Given the description of an element on the screen output the (x, y) to click on. 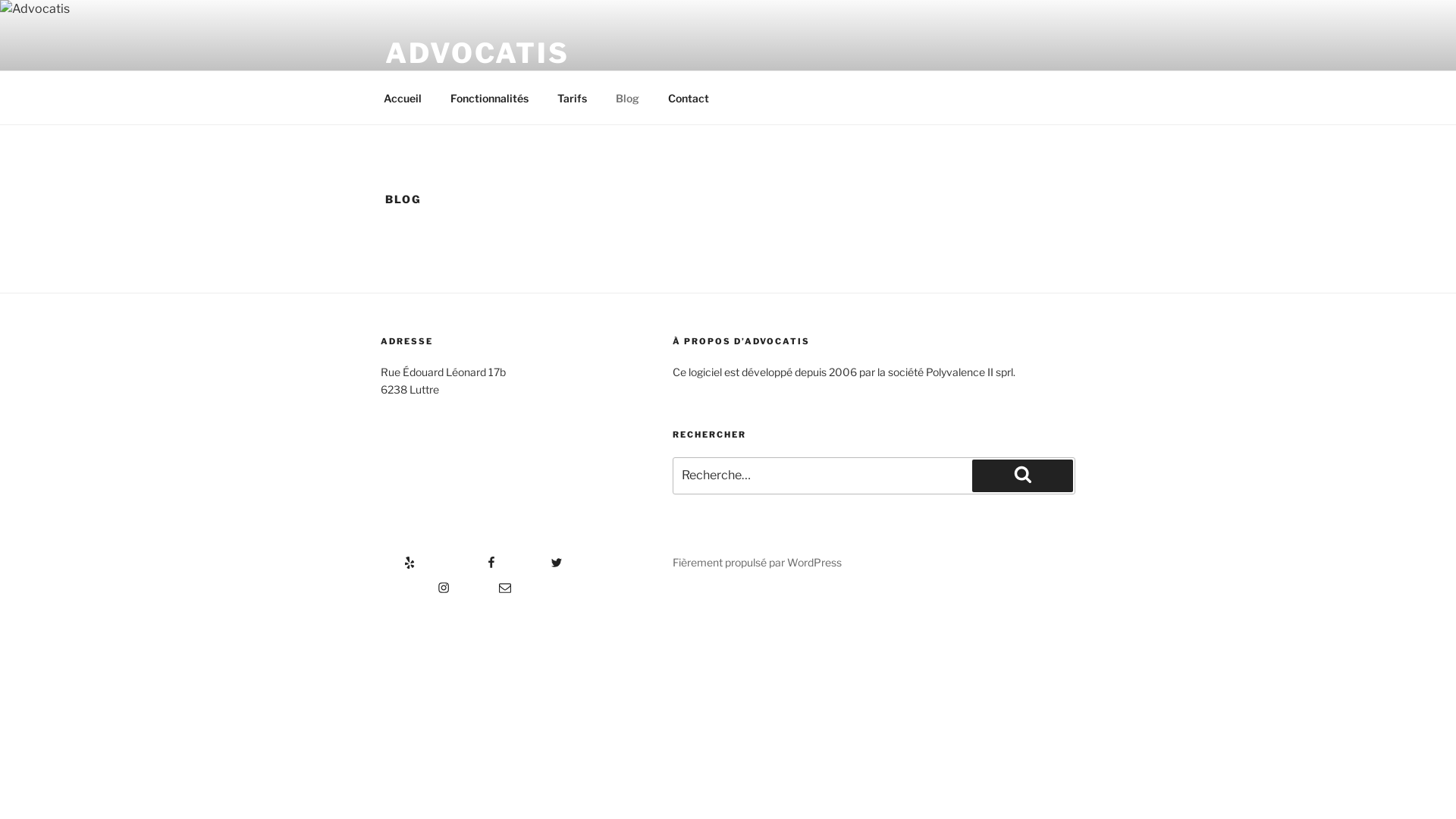
E-mail Element type: text (487, 582)
Contact Element type: text (687, 97)
ADVOCATIS Element type: text (477, 52)
Twitter Element type: text (536, 557)
Instagram Element type: text (414, 582)
Blog Element type: text (627, 97)
Tarifs Element type: text (571, 97)
Facebook Element type: text (463, 557)
Accueil Element type: text (402, 97)
Recherche Element type: text (1022, 475)
Yelp Element type: text (397, 557)
